Given the description of an element on the screen output the (x, y) to click on. 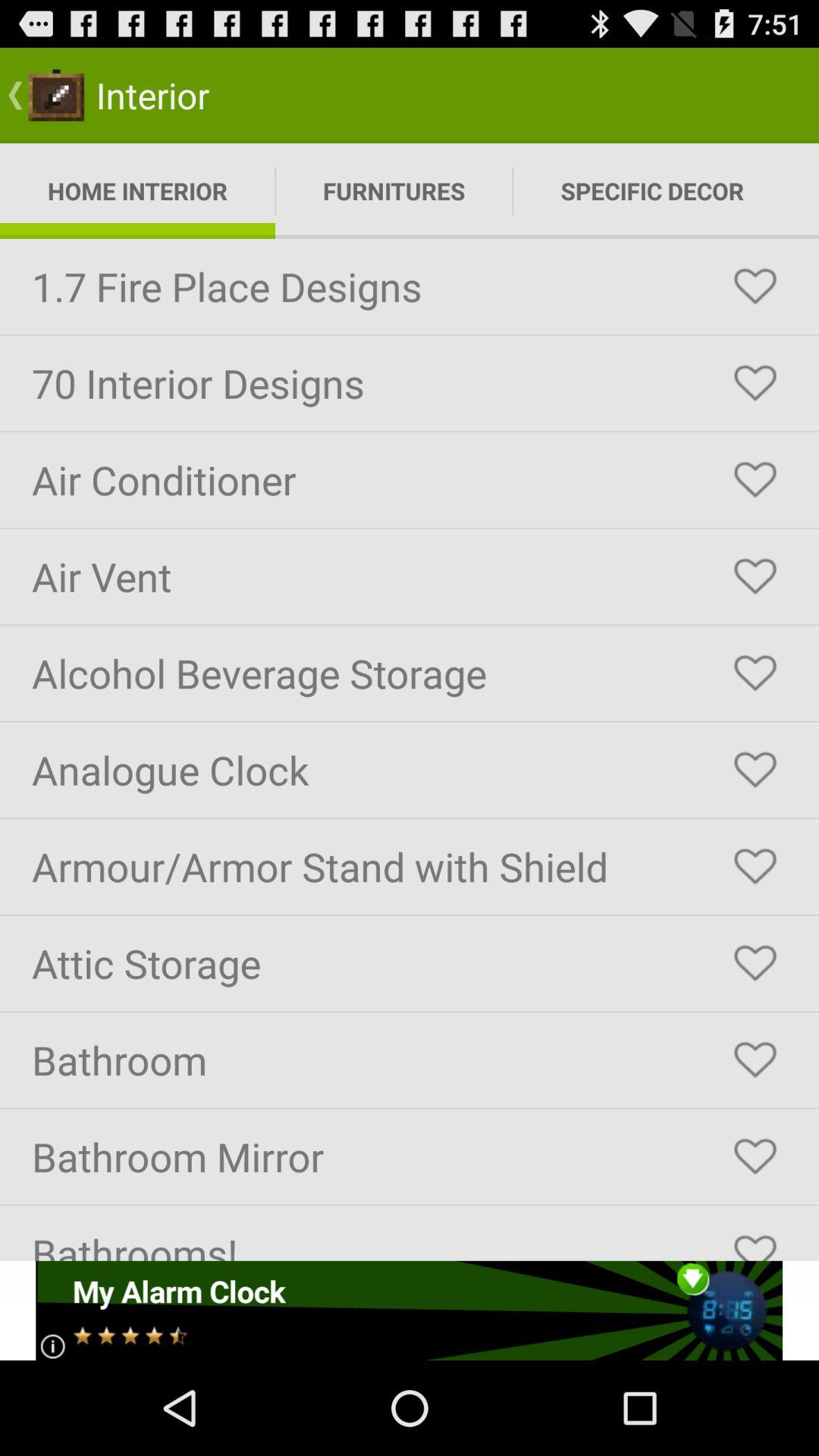
fautiore (755, 286)
